Given the description of an element on the screen output the (x, y) to click on. 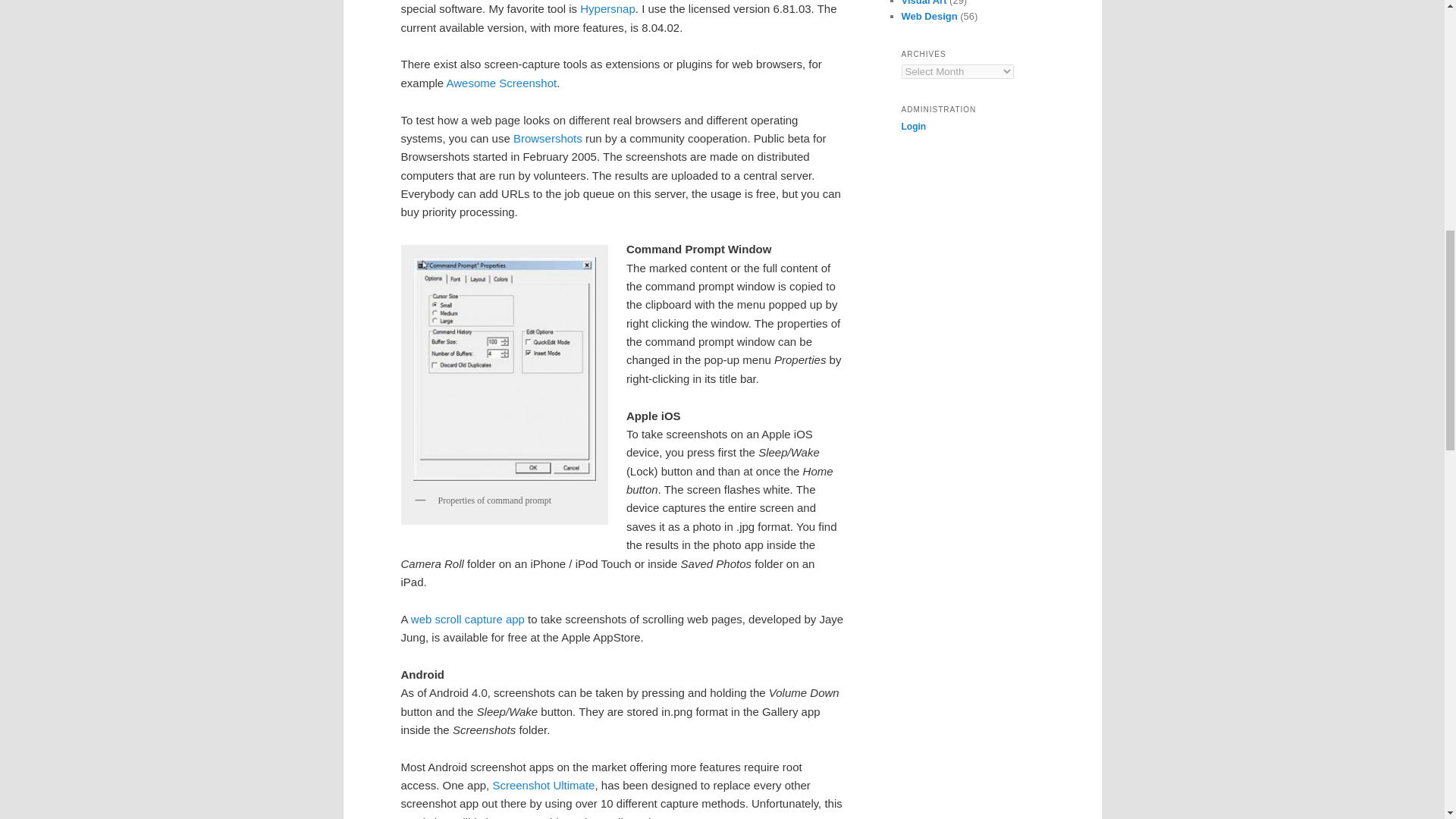
Browsershots (547, 137)
Browsershots (547, 137)
Awesome screenshot (501, 82)
web scroll capture app (467, 618)
Web Scroll Capture (467, 618)
Screenshot Ultimate (543, 784)
Hypersnap (606, 8)
Awesome Screenshot (501, 82)
HyperSnap (606, 8)
Screenshot Ultimate (543, 784)
